Given the description of an element on the screen output the (x, y) to click on. 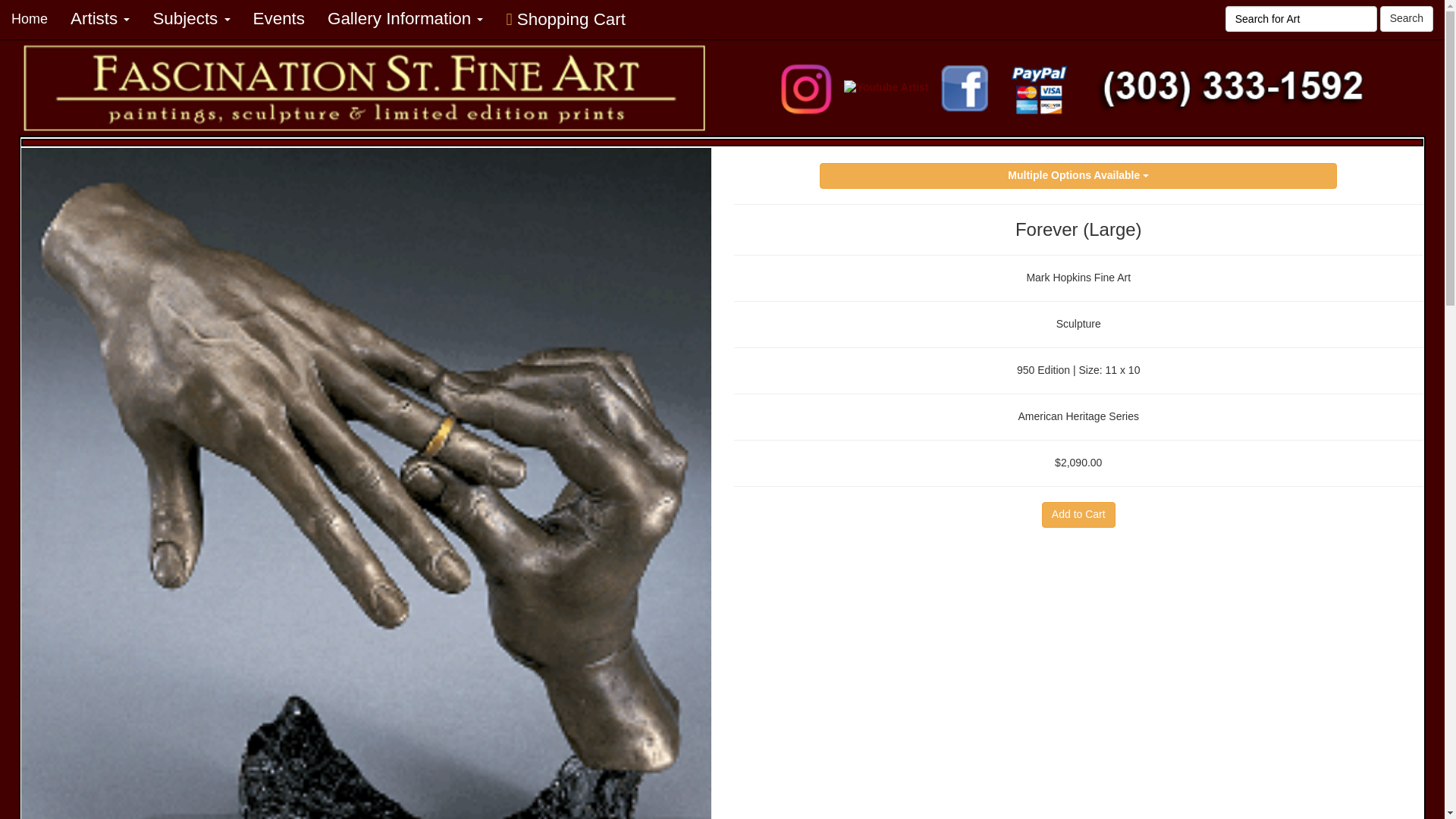
Home (29, 18)
Fine Art Gallery (364, 88)
Instagram Artist (806, 87)
PayPal Artist (1037, 87)
Artist Youtube Channel (886, 87)
Artist Phone (1231, 87)
Add to Cart (1078, 514)
Artist Facebook Page (965, 87)
Artists (100, 18)
